Given the description of an element on the screen output the (x, y) to click on. 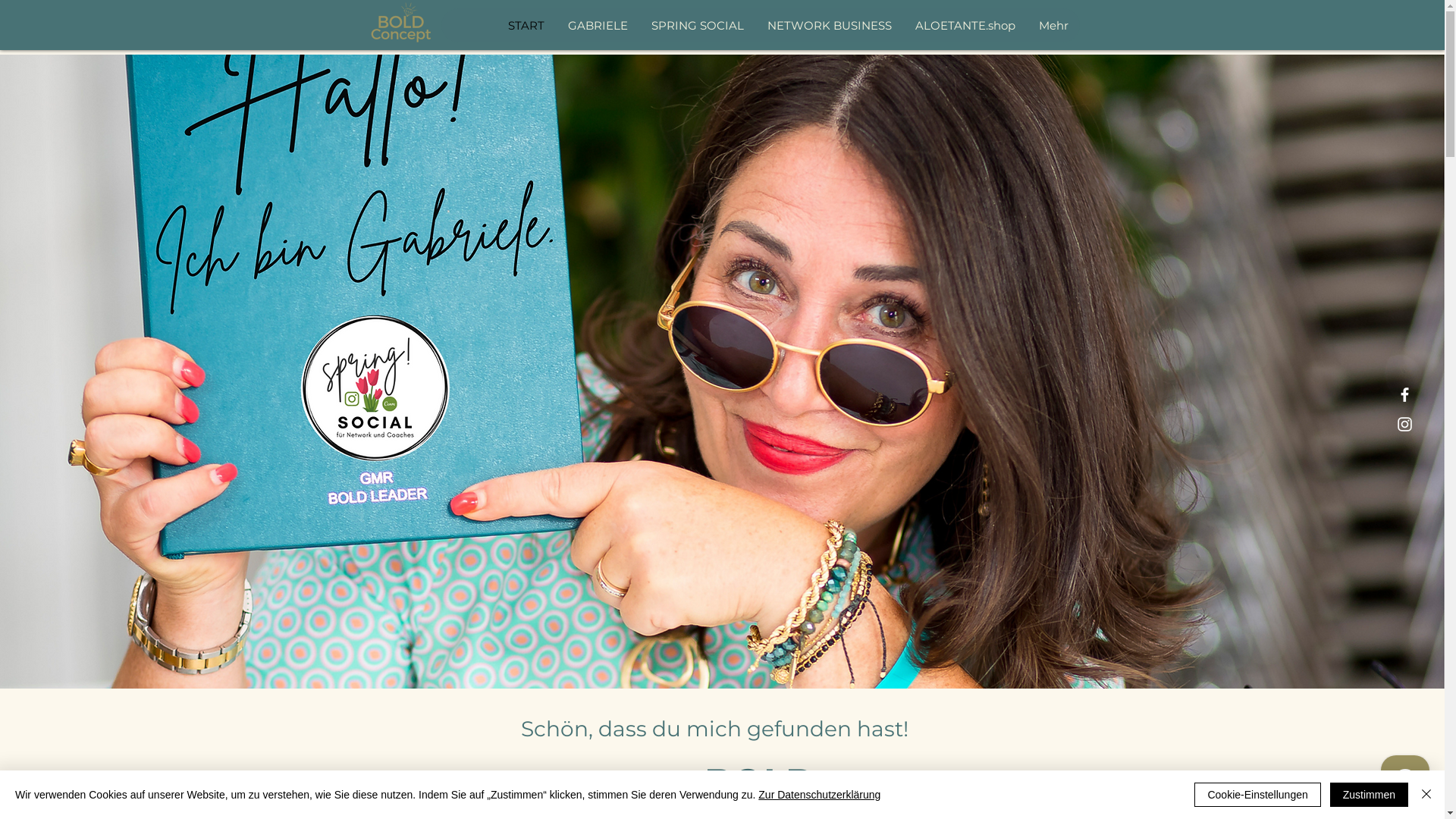
START Element type: text (525, 25)
Zustimmen Element type: text (1369, 794)
Cookie-Einstellungen Element type: text (1257, 794)
GABRIELE Element type: text (596, 25)
SPRING SOCIAL Element type: text (696, 25)
NETWORK BUSINESS Element type: text (829, 25)
ALOETANTE.shop Element type: text (964, 25)
